Given the description of an element on the screen output the (x, y) to click on. 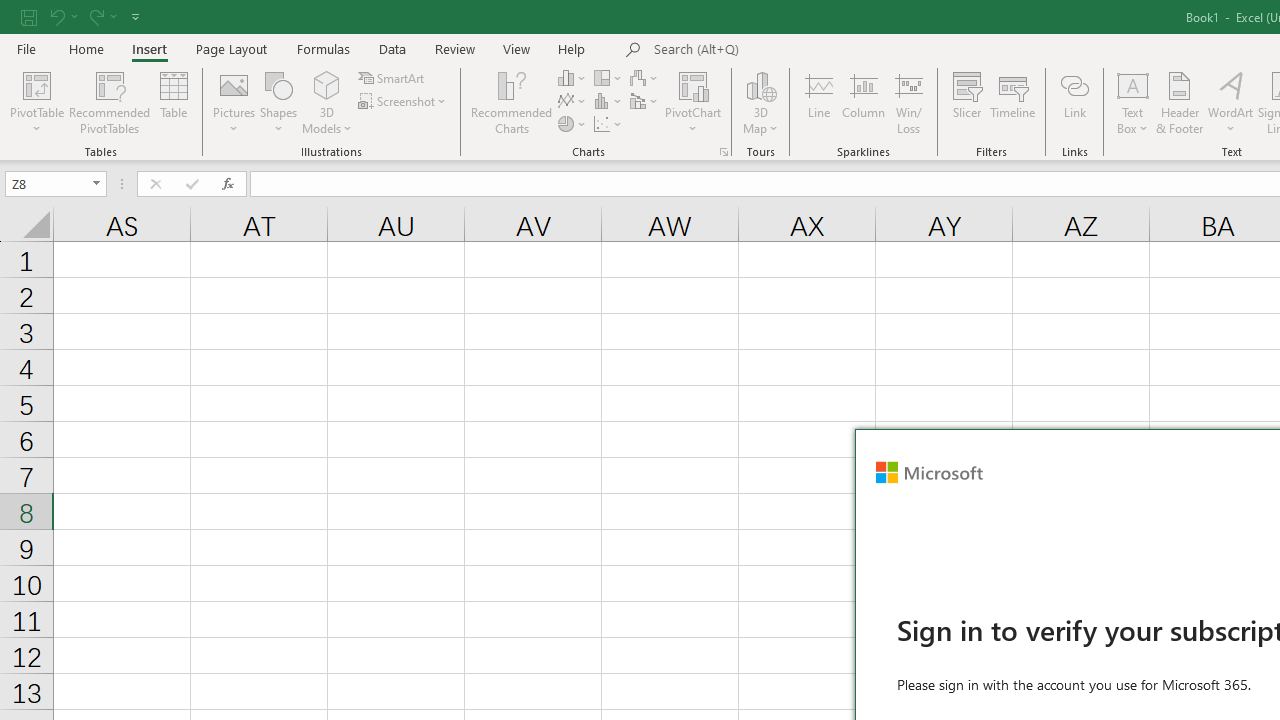
Microsoft search (792, 49)
Save (29, 15)
3D Models (326, 84)
PivotTable (36, 84)
Formulas (323, 48)
Line (818, 102)
3D Map (760, 84)
PivotChart (693, 84)
3D Map (760, 102)
Column (863, 102)
